Given the description of an element on the screen output the (x, y) to click on. 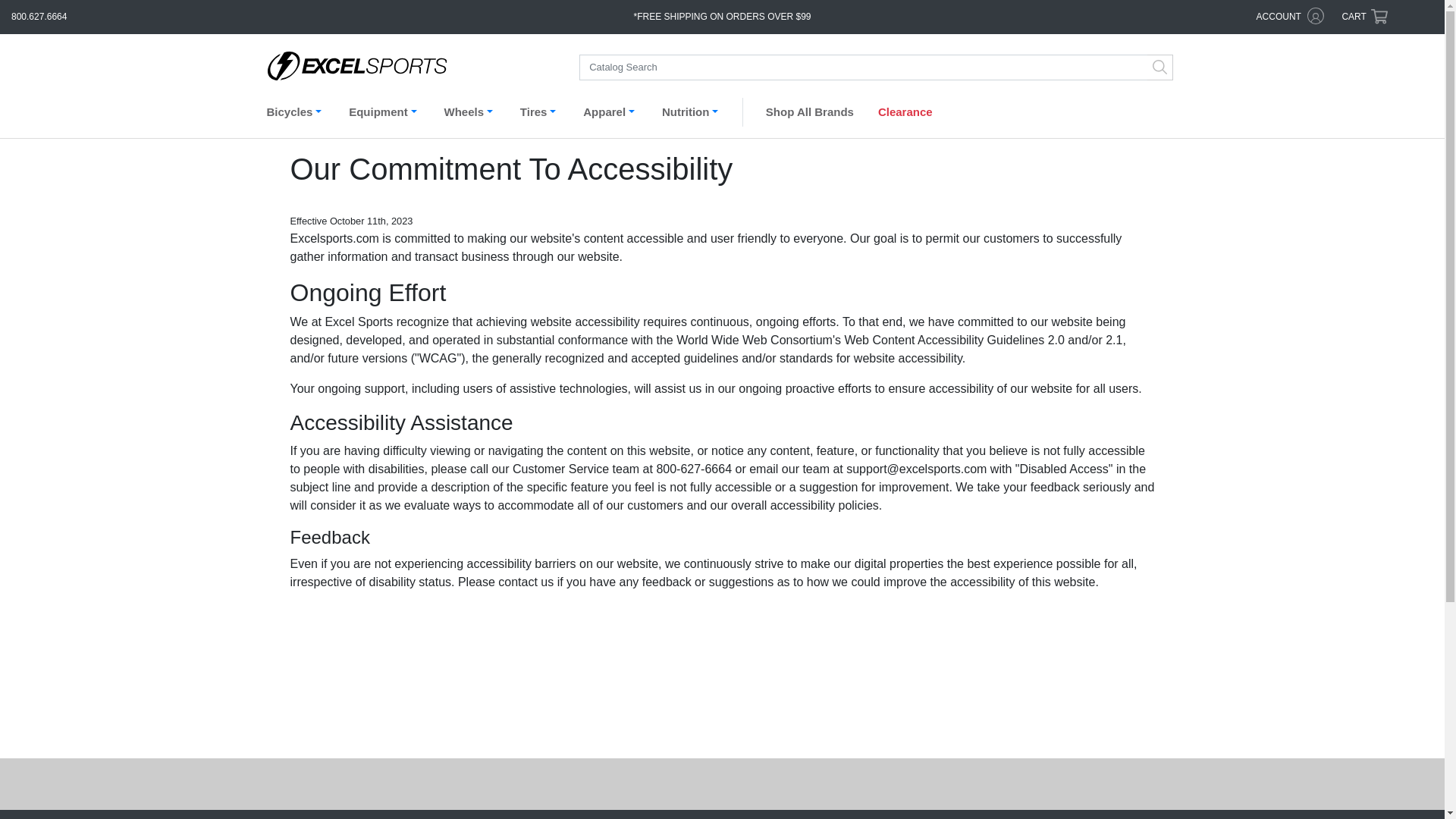
ACCOUNT (1290, 16)
Bicycles (297, 114)
Submit the search query. (1160, 67)
Equipment (385, 114)
CART (1363, 16)
